Given the description of an element on the screen output the (x, y) to click on. 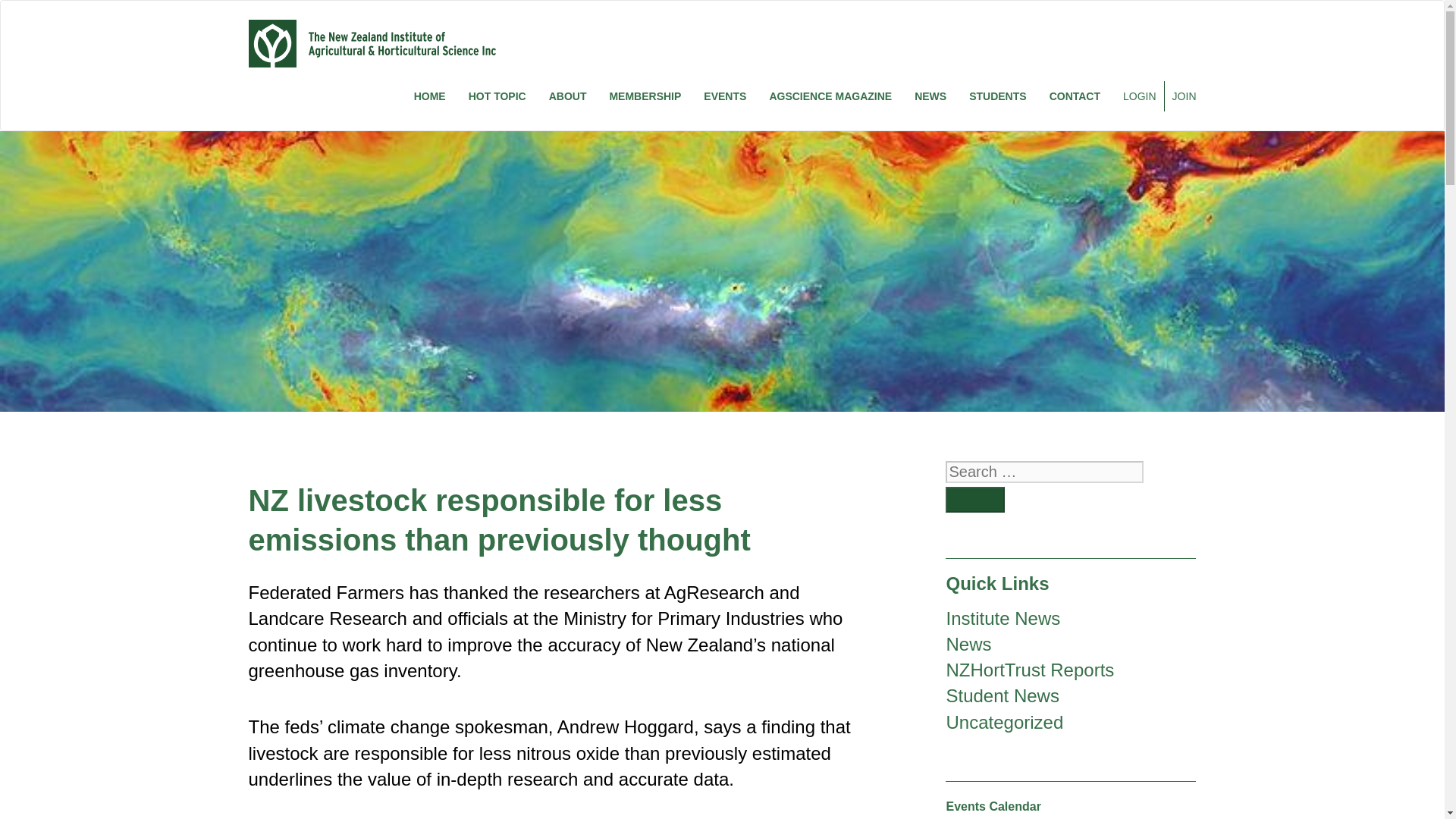
NEWS (930, 96)
LOGIN (1138, 96)
HOT TOPIC (497, 96)
Search for: (1043, 472)
NZIAHS (372, 43)
AGSCIENCE MAGAZINE (829, 96)
EVENTS (725, 96)
STUDENTS (997, 96)
MEMBERSHIP (644, 96)
CONTACT (1075, 96)
